Given the description of an element on the screen output the (x, y) to click on. 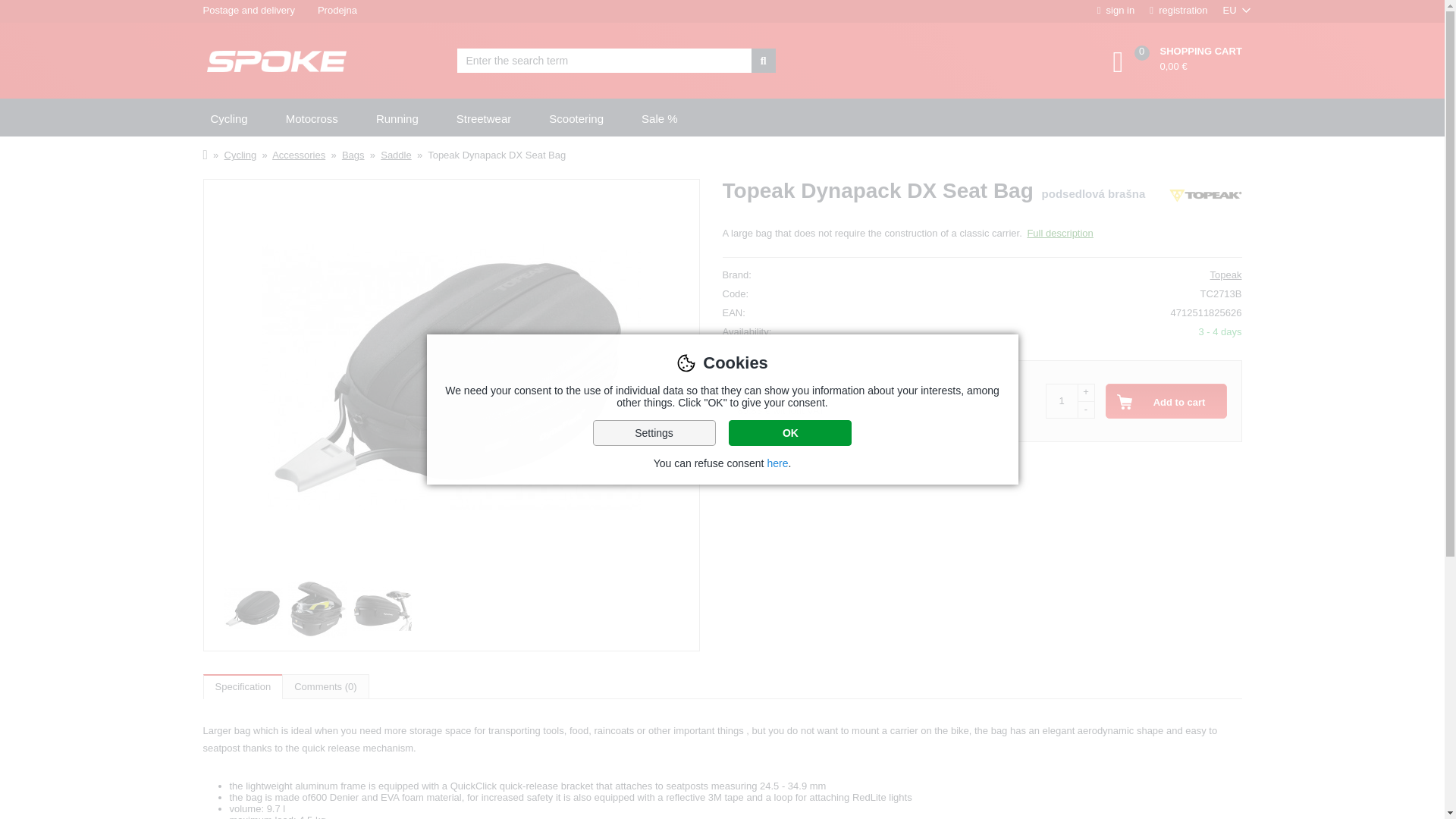
Add to cart (1166, 401)
Postage and delivery (247, 10)
1 (1061, 401)
Prodejna (336, 10)
 sign in (1115, 10)
 registration (1177, 10)
Cycling (228, 118)
